Given the description of an element on the screen output the (x, y) to click on. 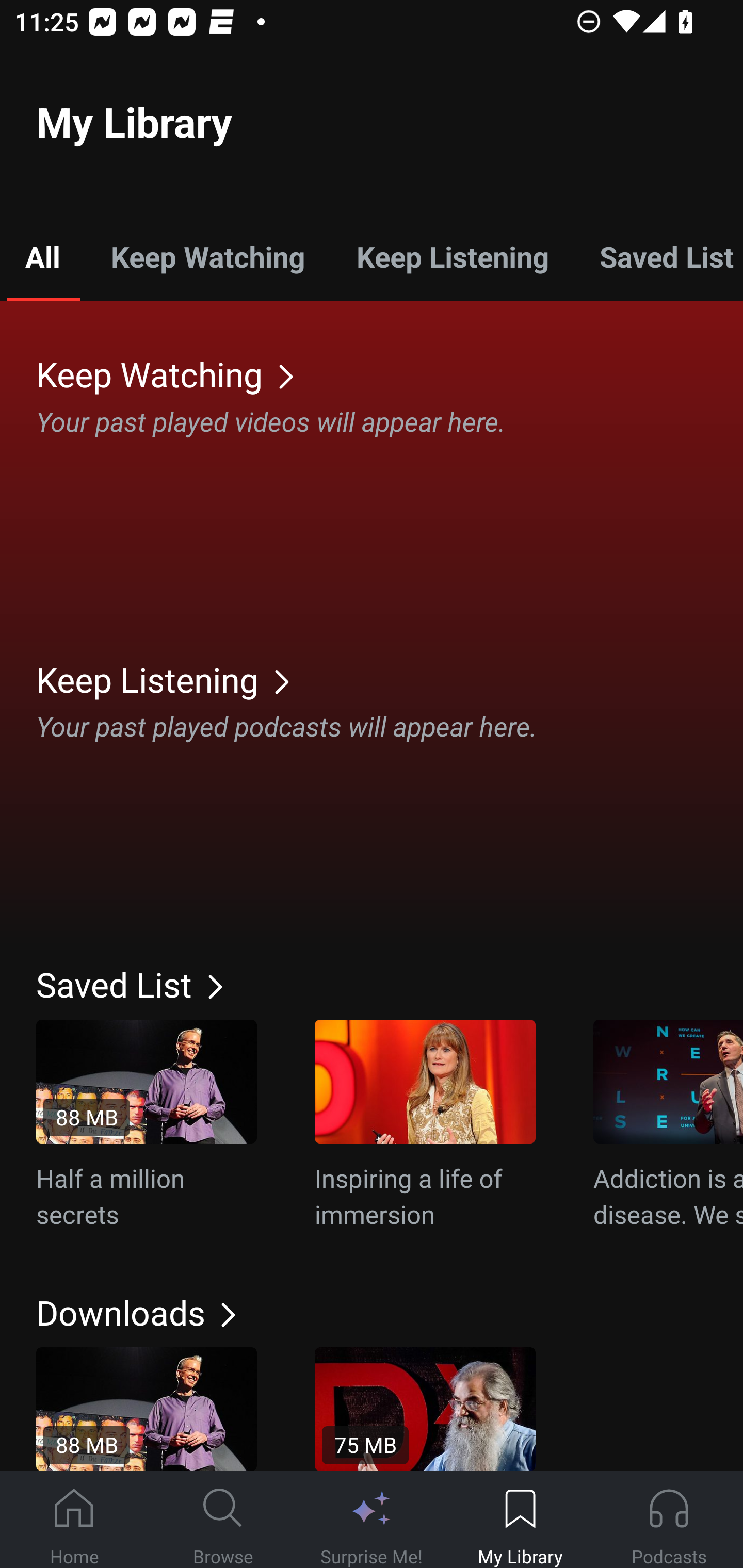
All (42, 256)
Keep Watching (207, 256)
Keep Listening (452, 256)
Saved List (658, 256)
Keep Watching (389, 373)
Keep Listening (389, 679)
Saved List (389, 983)
88 MB Half a million secrets (146, 1125)
Inspiring a life of immersion (425, 1125)
Downloads (389, 1312)
88 MB (146, 1408)
75 MB (425, 1408)
Home (74, 1520)
Browse (222, 1520)
Surprise Me! (371, 1520)
My Library (519, 1520)
Podcasts (668, 1520)
